Given the description of an element on the screen output the (x, y) to click on. 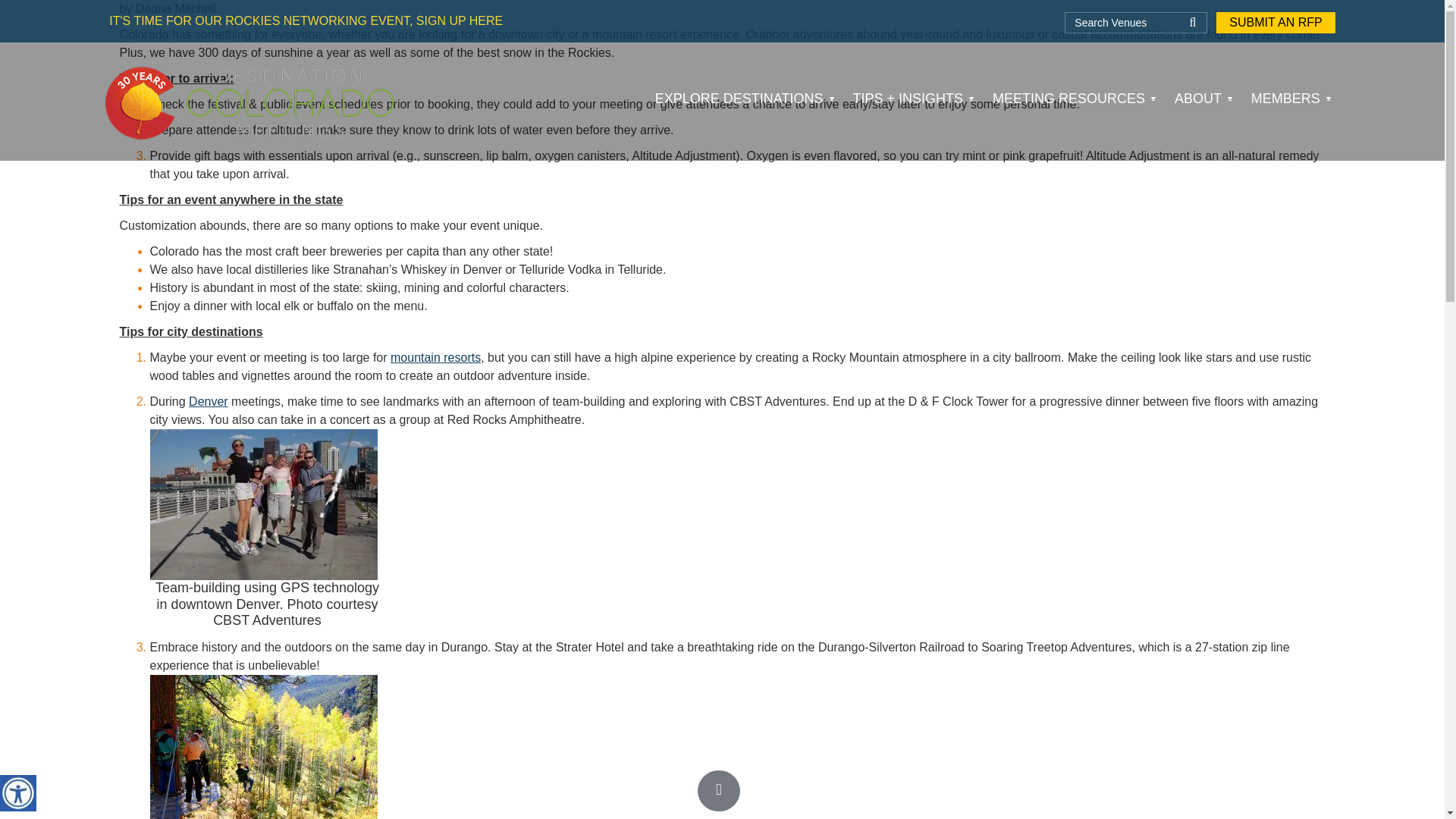
EXPLORE DESTINATIONS (745, 98)
EXPLORE DESTINATIONS (745, 98)
ABOUT (1203, 98)
Denver (208, 400)
MEETING RESOURCES (1075, 98)
MEETING RESOURCES (1075, 98)
mountain resorts (435, 357)
MEMBERS (1290, 98)
HERE (485, 20)
SUBMIT AN RFP (1275, 22)
